Given the description of an element on the screen output the (x, y) to click on. 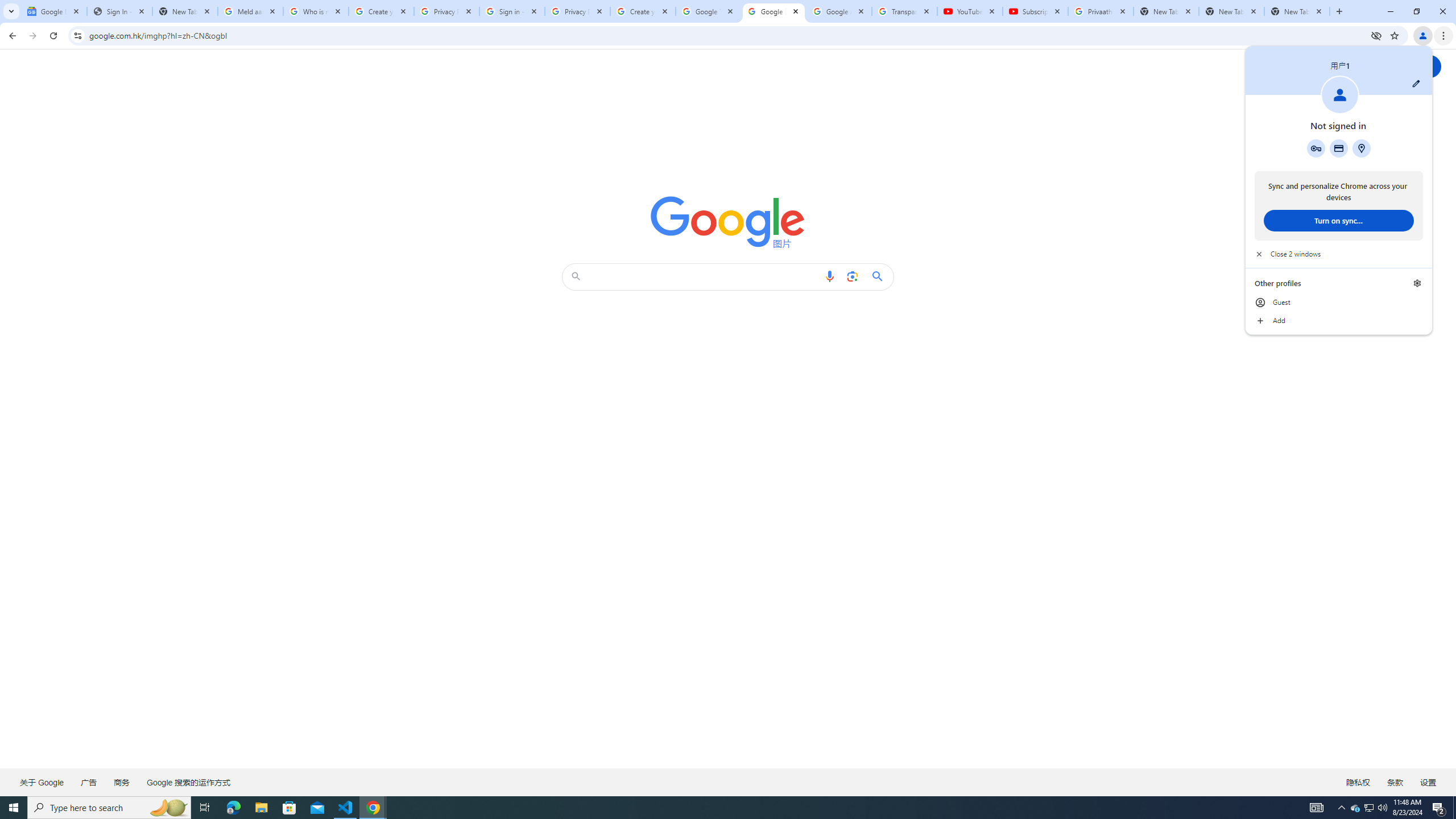
Visual Studio Code - 1 running window (345, 807)
Google Password Manager (1315, 148)
Addresses and more (1361, 148)
Customize profile (1415, 83)
Microsoft Edge (233, 807)
Create your Google Account (643, 11)
Who is my administrator? - Google Account Help (315, 11)
Sign In - USA TODAY (119, 11)
Subscriptions - YouTube (1035, 11)
Google News (53, 11)
